Given the description of an element on the screen output the (x, y) to click on. 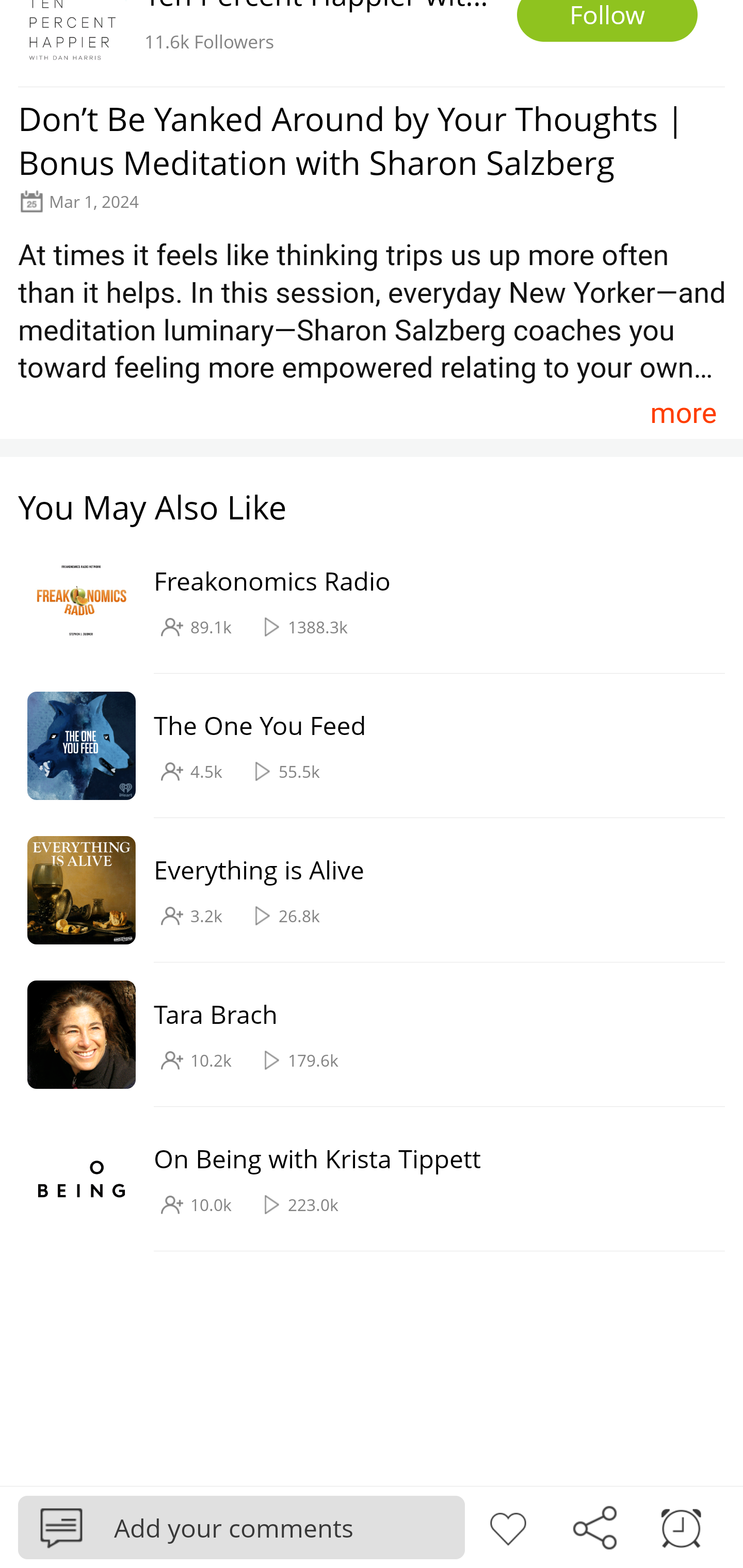
Follow (607, 21)
more (682, 412)
Freakonomics Radio 89.1k 1388.3k (362, 601)
The One You Feed 4.5k 55.5k (362, 746)
Everything is Alive 3.2k 26.8k (362, 890)
Tara Brach 10.2k 179.6k (362, 1034)
On Being with Krista Tippett 10.0k 223.0k (362, 1179)
Like (508, 1526)
Share (594, 1526)
Sleep timer (681, 1526)
Podbean Add your comments (241, 1526)
